Given the description of an element on the screen output the (x, y) to click on. 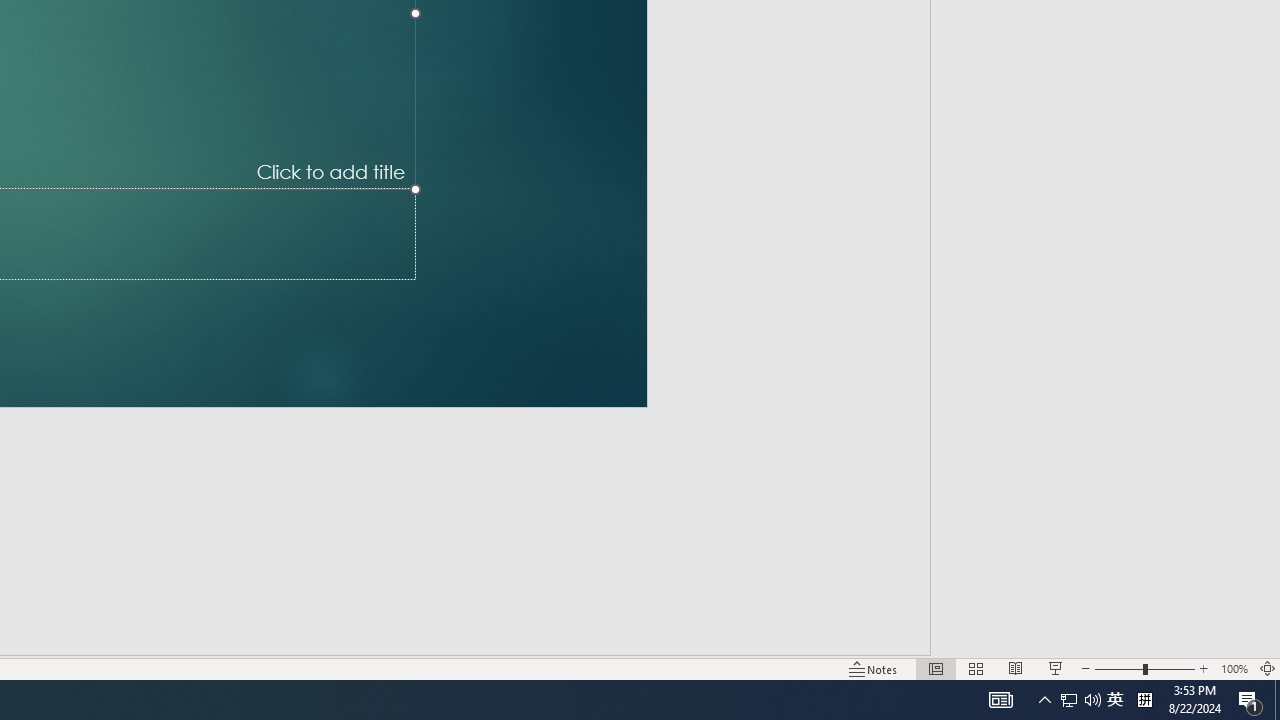
Notes  (874, 668)
Zoom 100% (1234, 668)
